Given the description of an element on the screen output the (x, y) to click on. 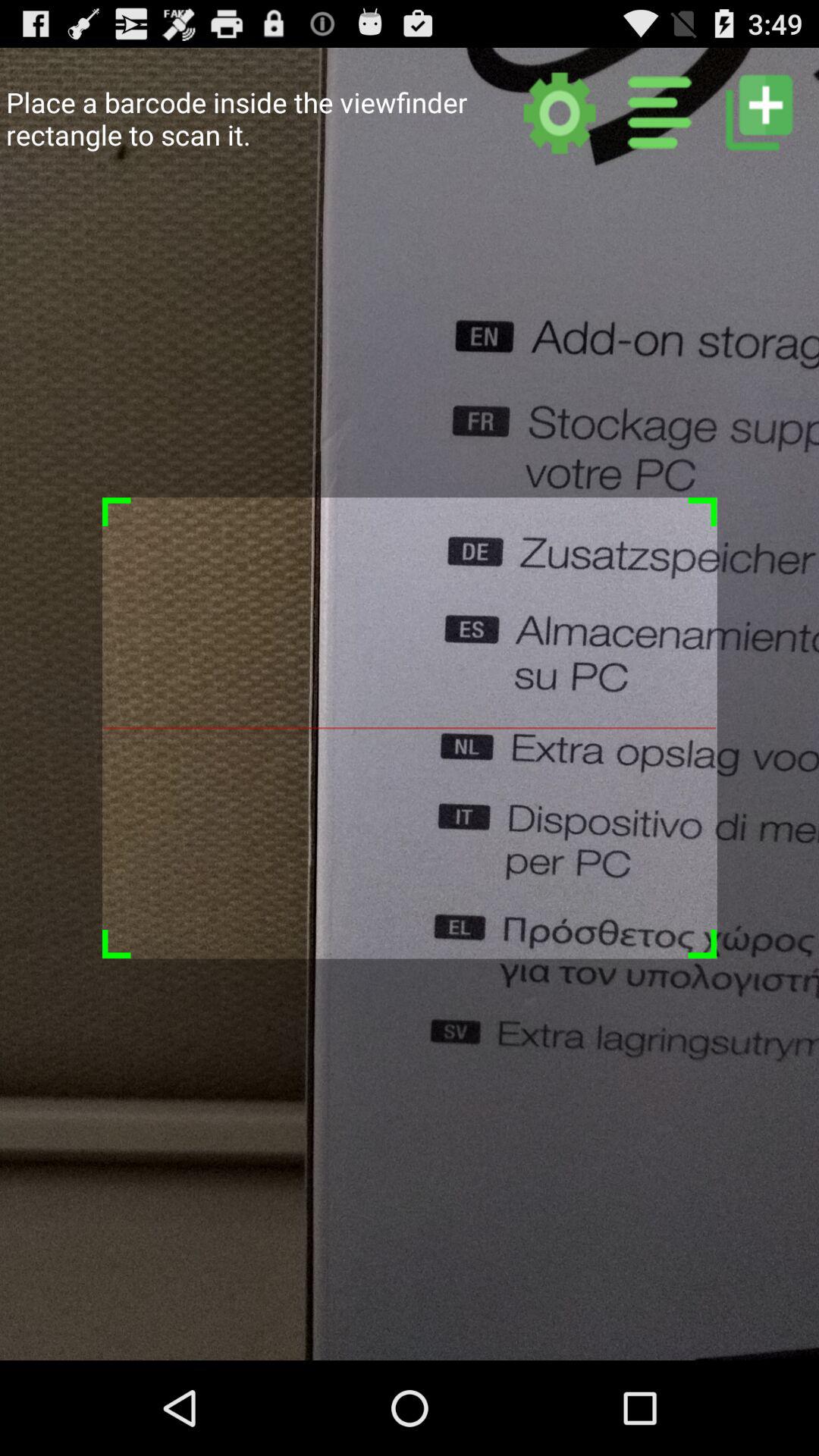
go to list view (659, 112)
